Given the description of an element on the screen output the (x, y) to click on. 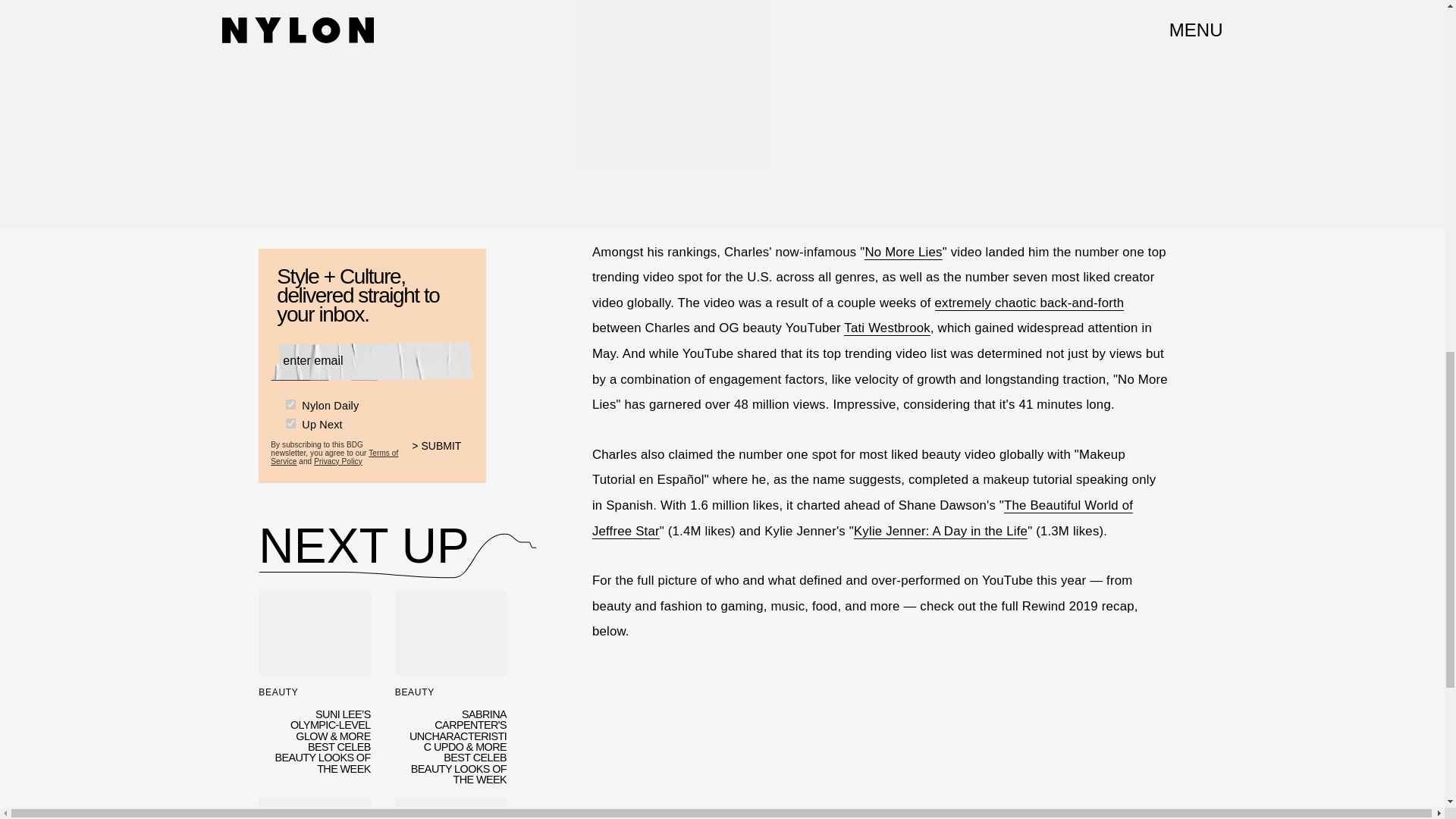
Privacy Policy (338, 460)
SUBMIT (443, 454)
The Beautiful World of Jeffree Star (862, 517)
Terms of Service (333, 457)
Kylie Jenner: A Day in the Life (940, 530)
THESE PALETTES WILL UPGRADE YOUR FALL EYESHADOW LOOKS (314, 808)
Tati Westbrook (887, 328)
No More Lies (903, 252)
extremely chaotic back-and-forth (1029, 303)
